Given the description of an element on the screen output the (x, y) to click on. 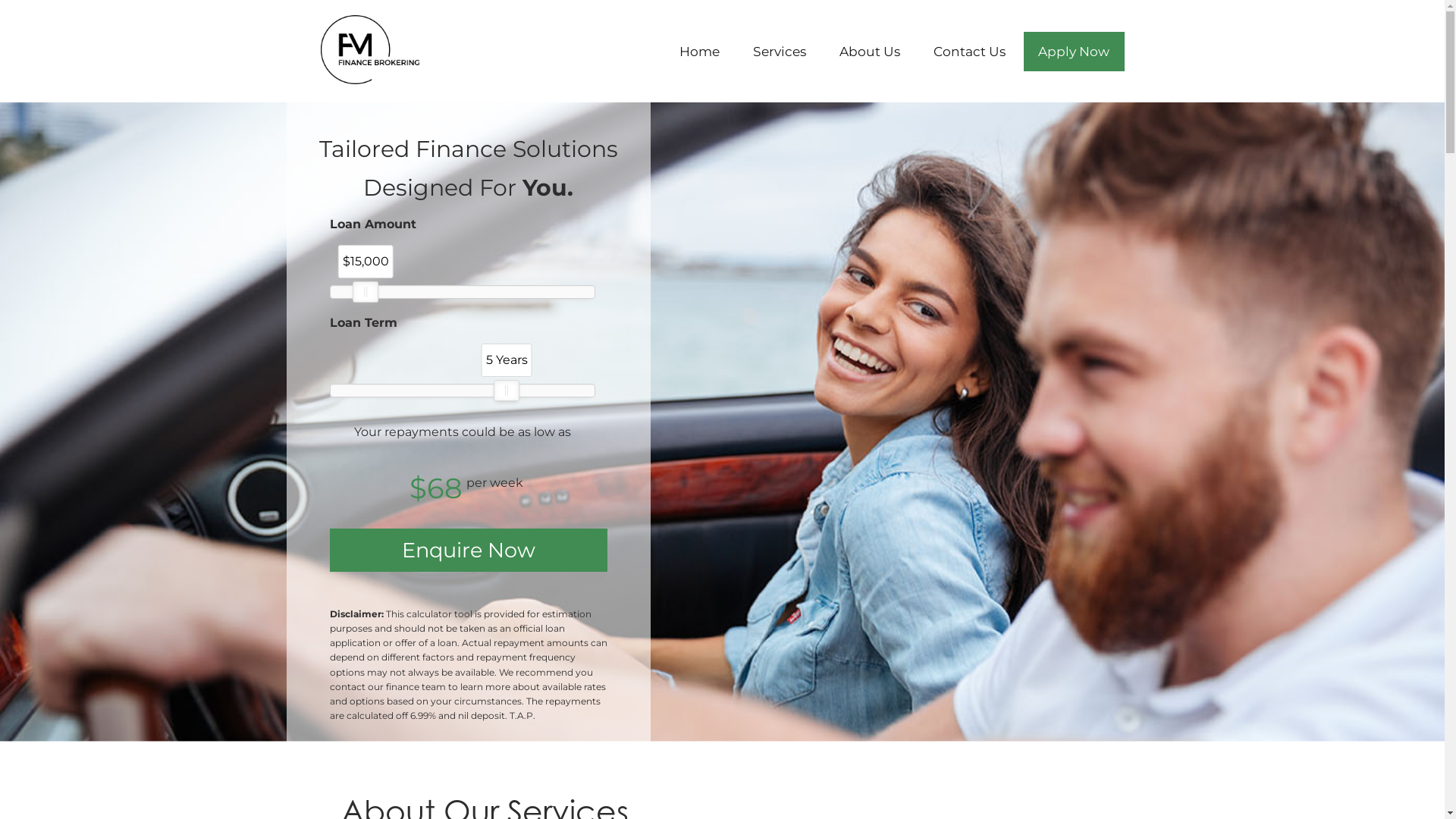
Contact Us Element type: text (969, 51)
Home Element type: text (699, 51)
Apply Now Element type: text (1073, 51)
About Us Element type: text (869, 51)
Services Element type: text (779, 51)
Enquire Now Element type: text (467, 549)
